Given the description of an element on the screen output the (x, y) to click on. 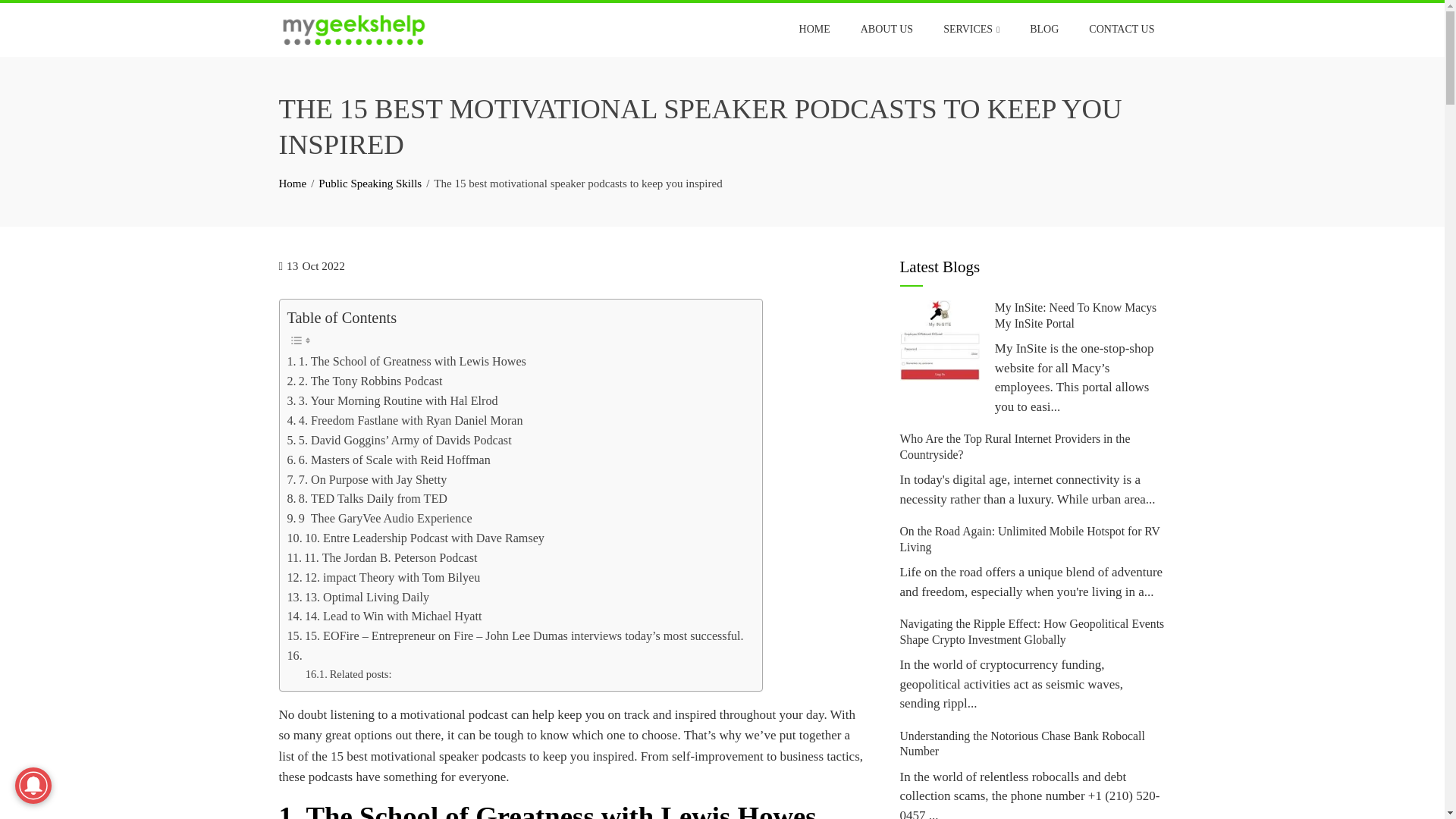
8. TED Talks Daily from TED (366, 498)
BLOG (1043, 29)
13. Optimal Living Daily (357, 597)
10. Entre Leadership Podcast with Dave Ramsey (414, 537)
4. Freedom Fastlane with Ryan Daniel Moran (404, 420)
1. The School of Greatness with Lewis Howes (405, 361)
